Given the description of an element on the screen output the (x, y) to click on. 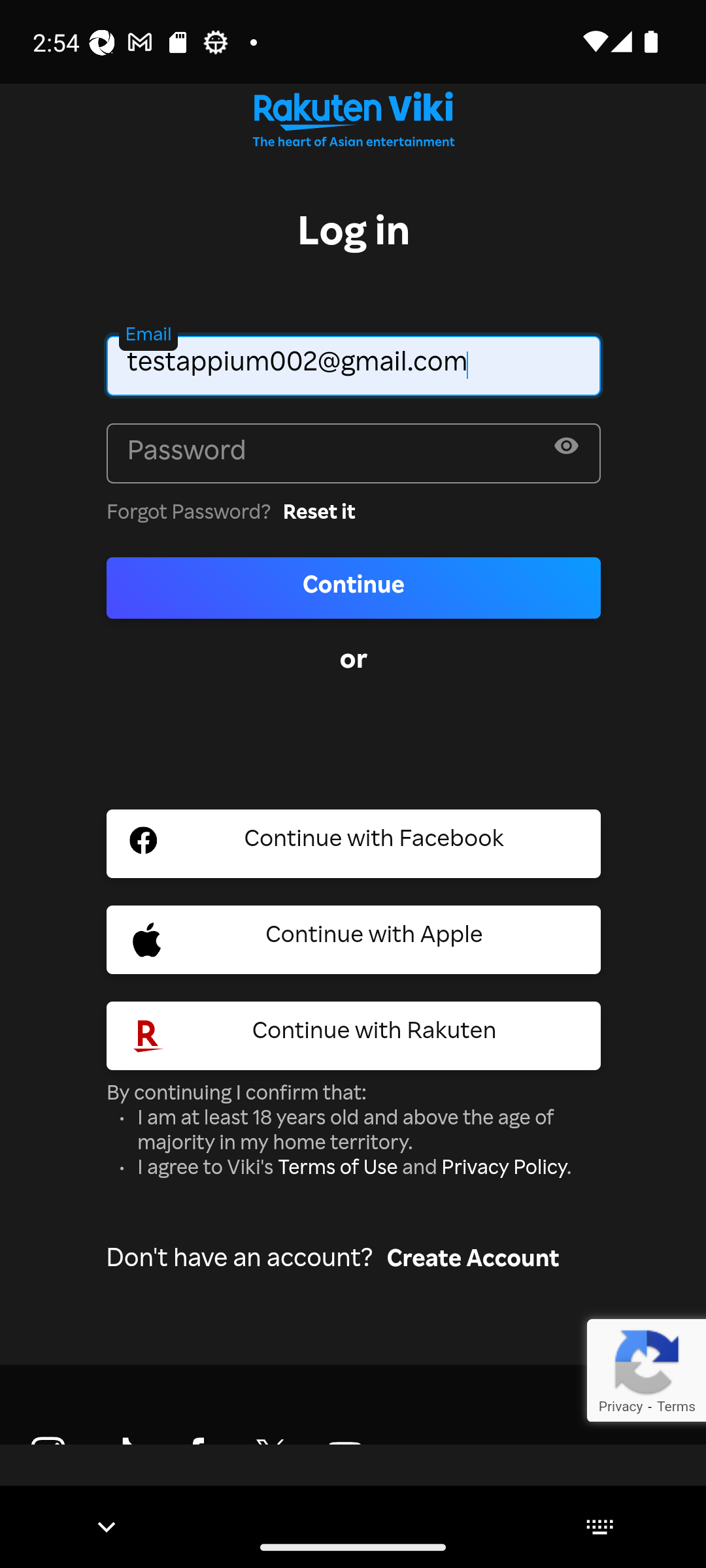
Go to homepage Rakuten Viki (352, 124)
testappium002@gmail.com (353, 364)
 (566, 450)
Reset it (318, 514)
Continue (353, 587)
Facebook Social Sign In Button (353, 844)
Apple Social Sign In Button (353, 939)
Rakuten Social Sign In Button (353, 1035)
Terms of Use (337, 1169)
Privacy Policy (503, 1169)
Create Account (472, 1261)
Privacy (620, 1406)
Terms (675, 1406)
